Given the description of an element on the screen output the (x, y) to click on. 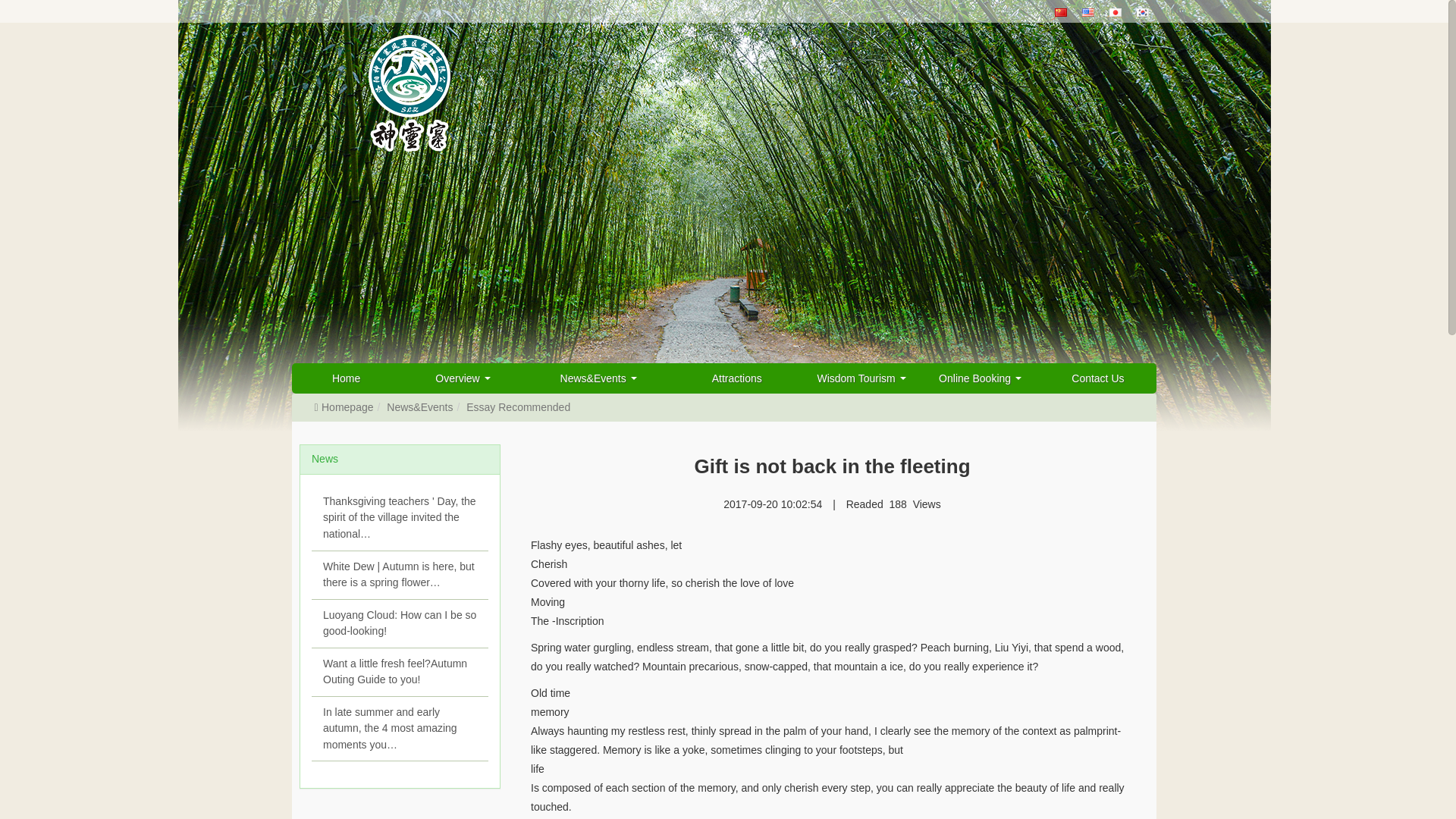
Wisdom Tourism (861, 378)
Want a little fresh feel?Autumn Outing Guide to you! (399, 672)
Contact Us (1097, 378)
Online Booking (979, 378)
Homepage (342, 407)
Overview (462, 378)
Wisdom Tourism (861, 378)
Online Booking (979, 378)
Attractions (736, 378)
Home (346, 378)
Overview (462, 378)
Luoyang Cloud: How can I be so good-looking! (399, 623)
Home (346, 378)
Attractions (736, 378)
Essay Recommended (517, 407)
